Given the description of an element on the screen output the (x, y) to click on. 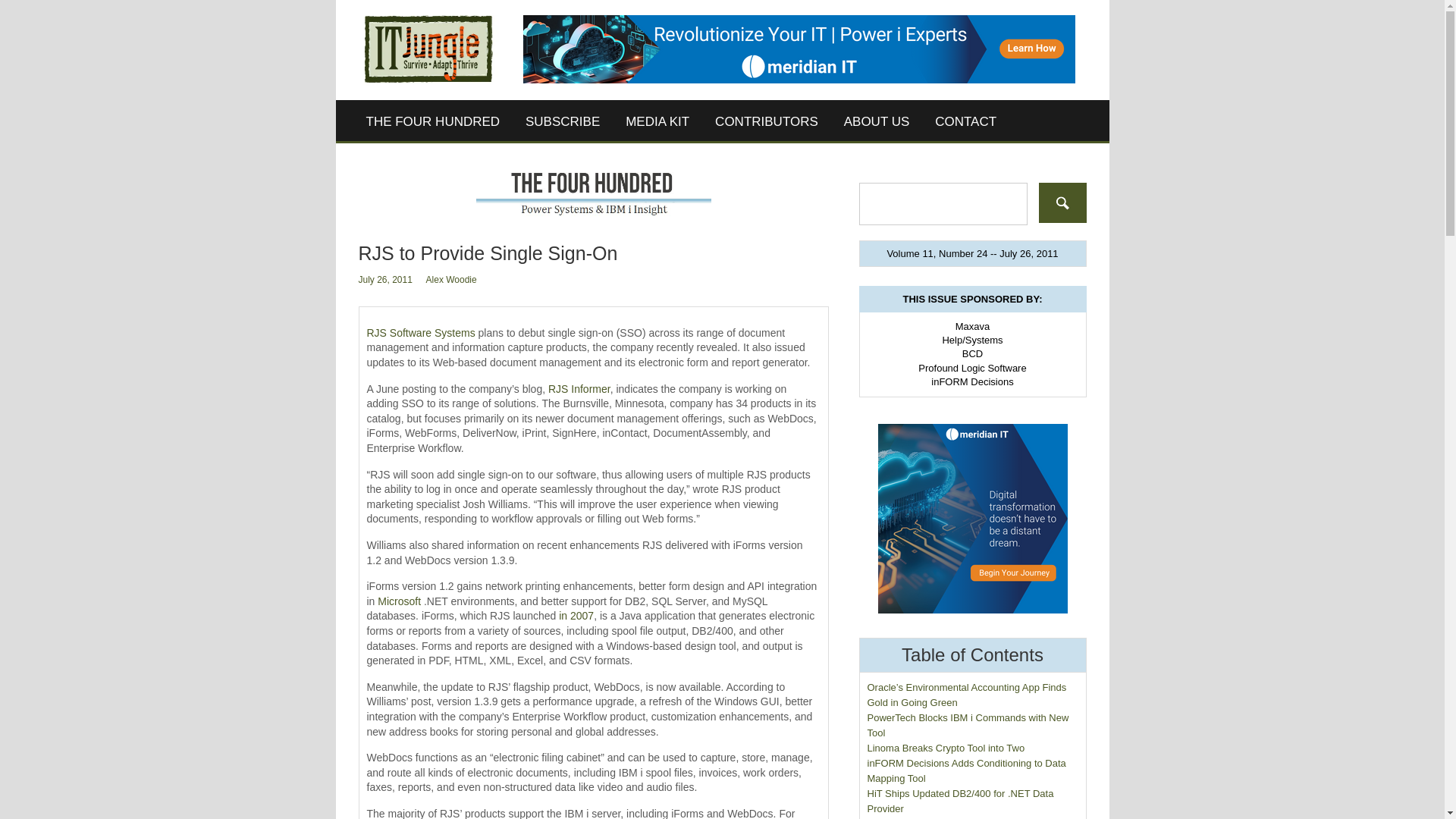
ABOUT US (876, 121)
CONTRIBUTORS (766, 121)
RJS Informer (579, 388)
in 2007 (576, 615)
THE FOUR HUNDRED (433, 121)
SUBSCRIBE (562, 121)
MEDIA KIT (657, 121)
Search (1062, 202)
RJS Software Systems (421, 332)
CONTACT (965, 121)
